Given the description of an element on the screen output the (x, y) to click on. 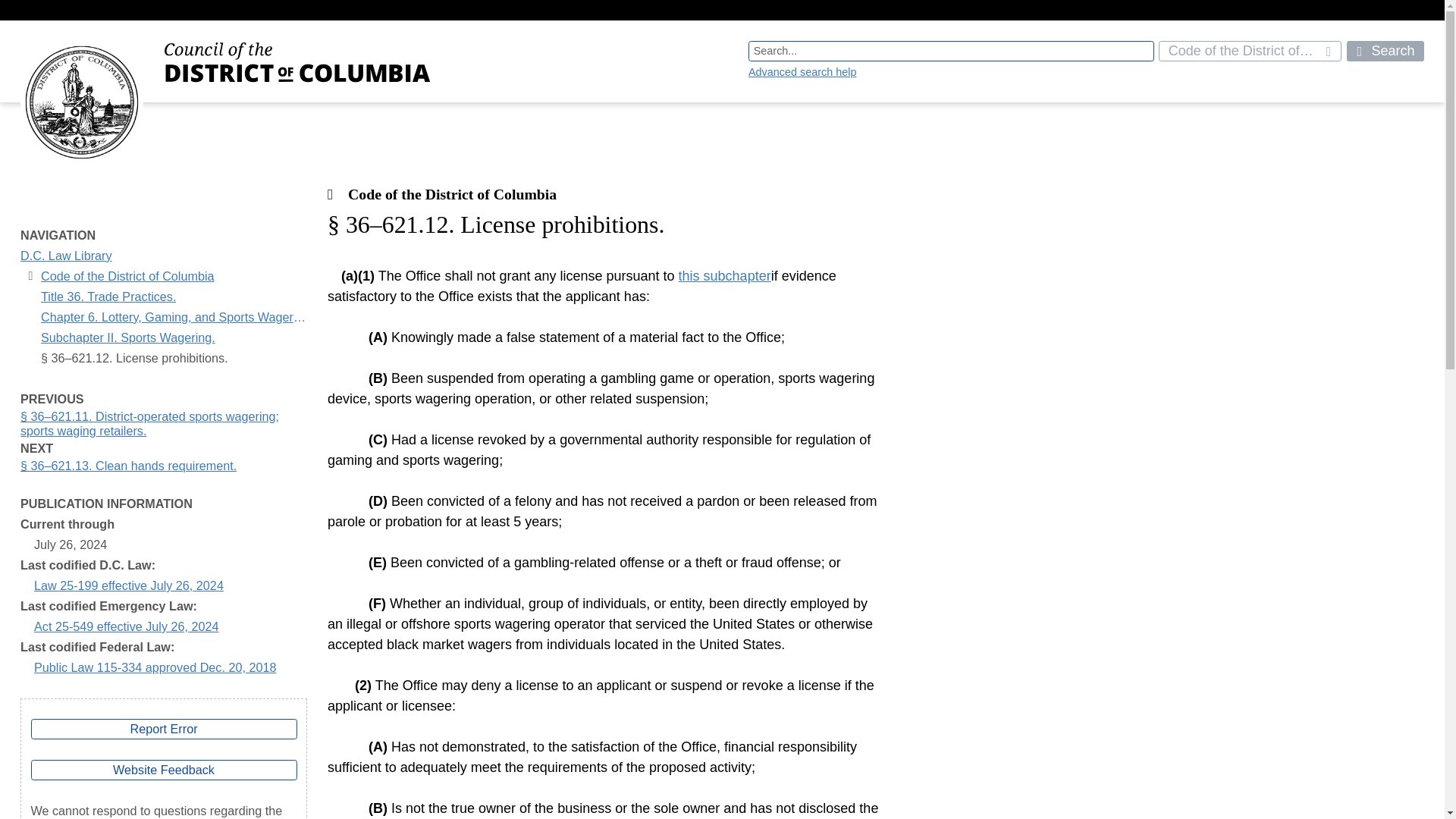
Subchapter II. Sports Wagering. (127, 337)
Public Law 115-334 approved Dec. 20, 2018 (154, 667)
D.C. Law Library (66, 255)
this subchapter (724, 275)
Report Error (163, 729)
Title 36. Trade Practices. (108, 296)
Title 36. Trade Practices. (108, 296)
Code of the District of Columbia (1249, 50)
Chapter 6. Lottery, Gaming, and Sports Wagering. (173, 317)
Advanced search help (802, 70)
